Given the description of an element on the screen output the (x, y) to click on. 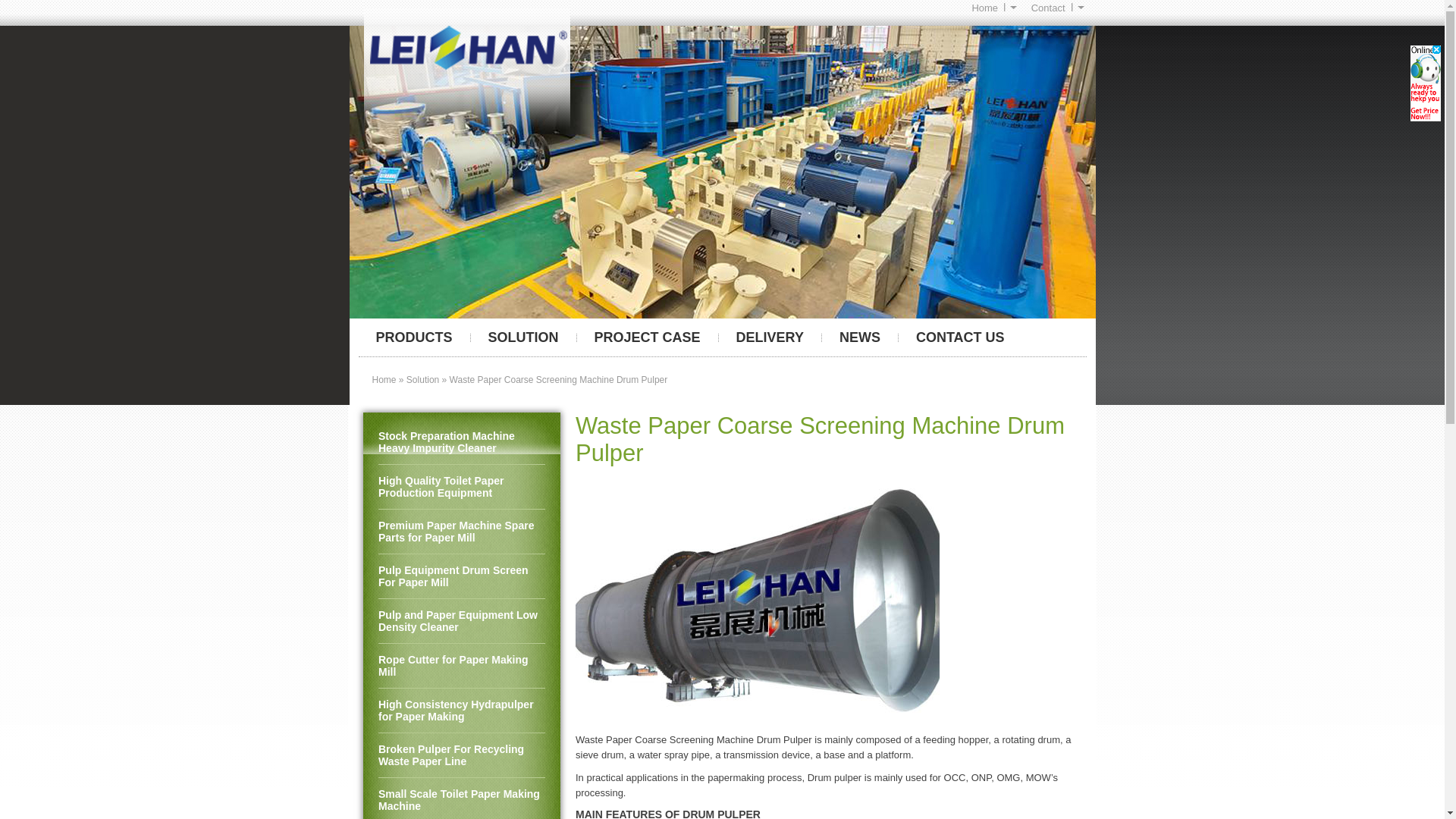
CONTACT US (960, 337)
Pulp and Paper Equipment Low Density Cleaner (461, 620)
Solution (422, 379)
High Consistency Hydrapulper for Paper Making (461, 710)
High Quality Toilet Paper Production Equipment (461, 487)
Solution (523, 337)
NEWS (860, 337)
Pulp Equipment Drum Screen For Paper Mill (461, 576)
Rope Cutter for Paper Making Mill (461, 665)
SOLUTION (523, 337)
Project Case (646, 337)
PROJECT CASE (646, 337)
DELIVERY (770, 337)
Broken Pulper For Recycling Waste Paper Line (461, 755)
Products (413, 337)
